Given the description of an element on the screen output the (x, y) to click on. 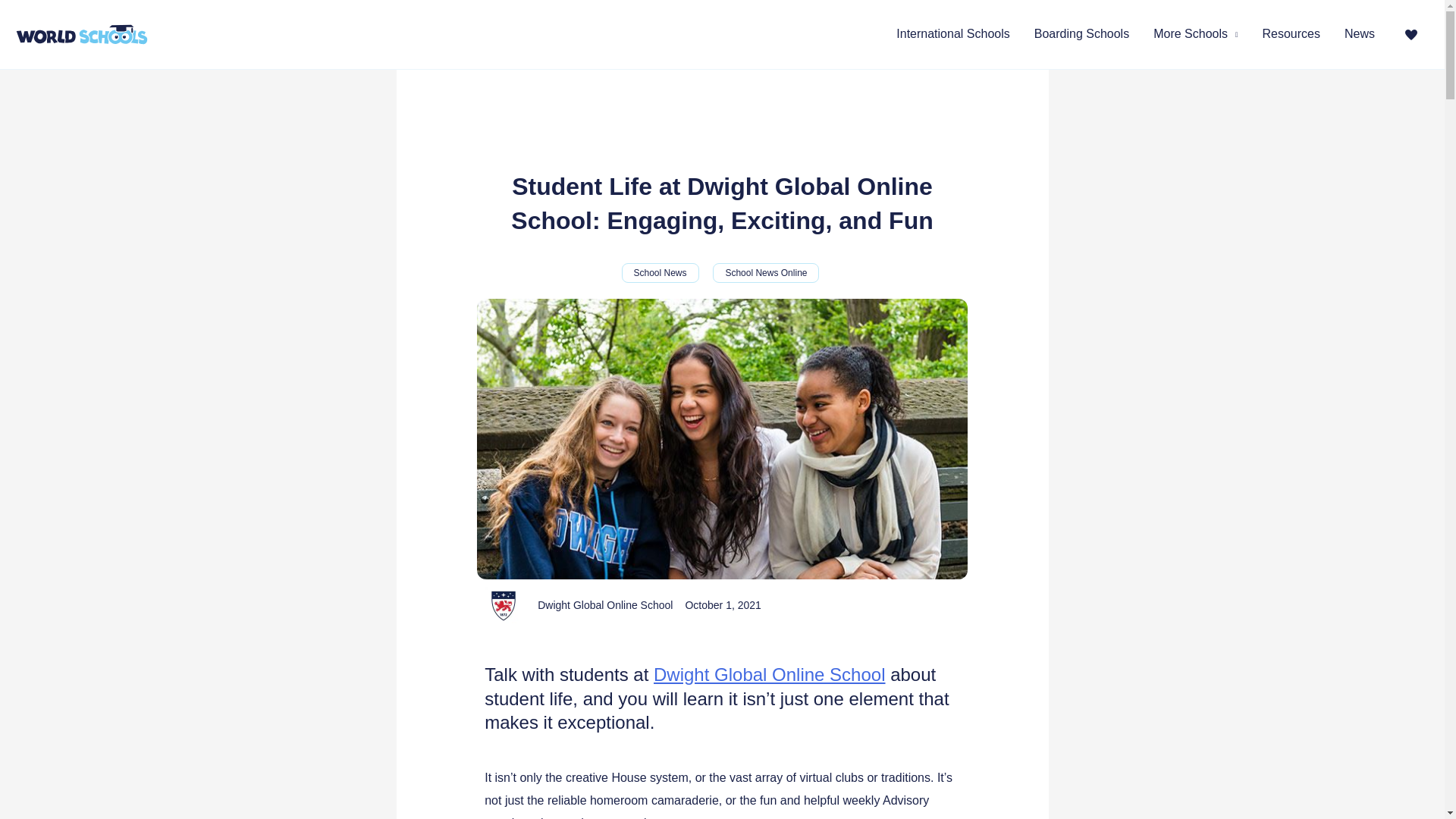
International Schools (952, 34)
Dwight Global Online School (604, 605)
Boarding Schools (1081, 34)
Resources (1290, 34)
School News Online (765, 272)
Dwight Global Online School (769, 674)
More Schools (1195, 34)
School News (659, 272)
